Given the description of an element on the screen output the (x, y) to click on. 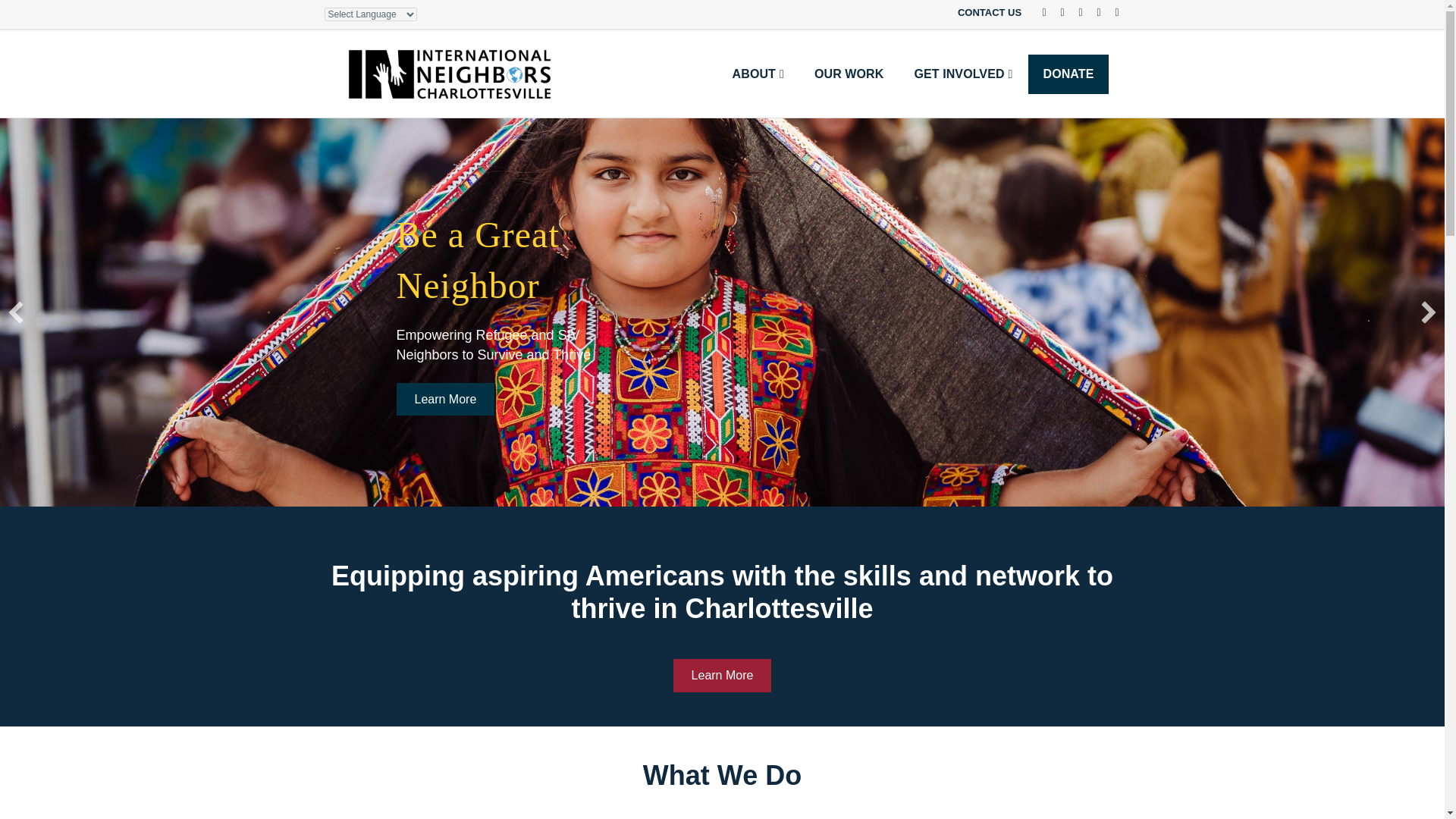
CONTACT US (987, 13)
GET INVOLVED (962, 74)
Learn More (445, 399)
Facebook (1036, 11)
DONATE (1068, 74)
Learn More (721, 675)
Vimeo (1091, 11)
Linkedin (1073, 11)
Instagram (1109, 11)
Twitter (1055, 11)
OUR WORK (848, 74)
ABOUT (758, 74)
